Given the description of an element on the screen output the (x, y) to click on. 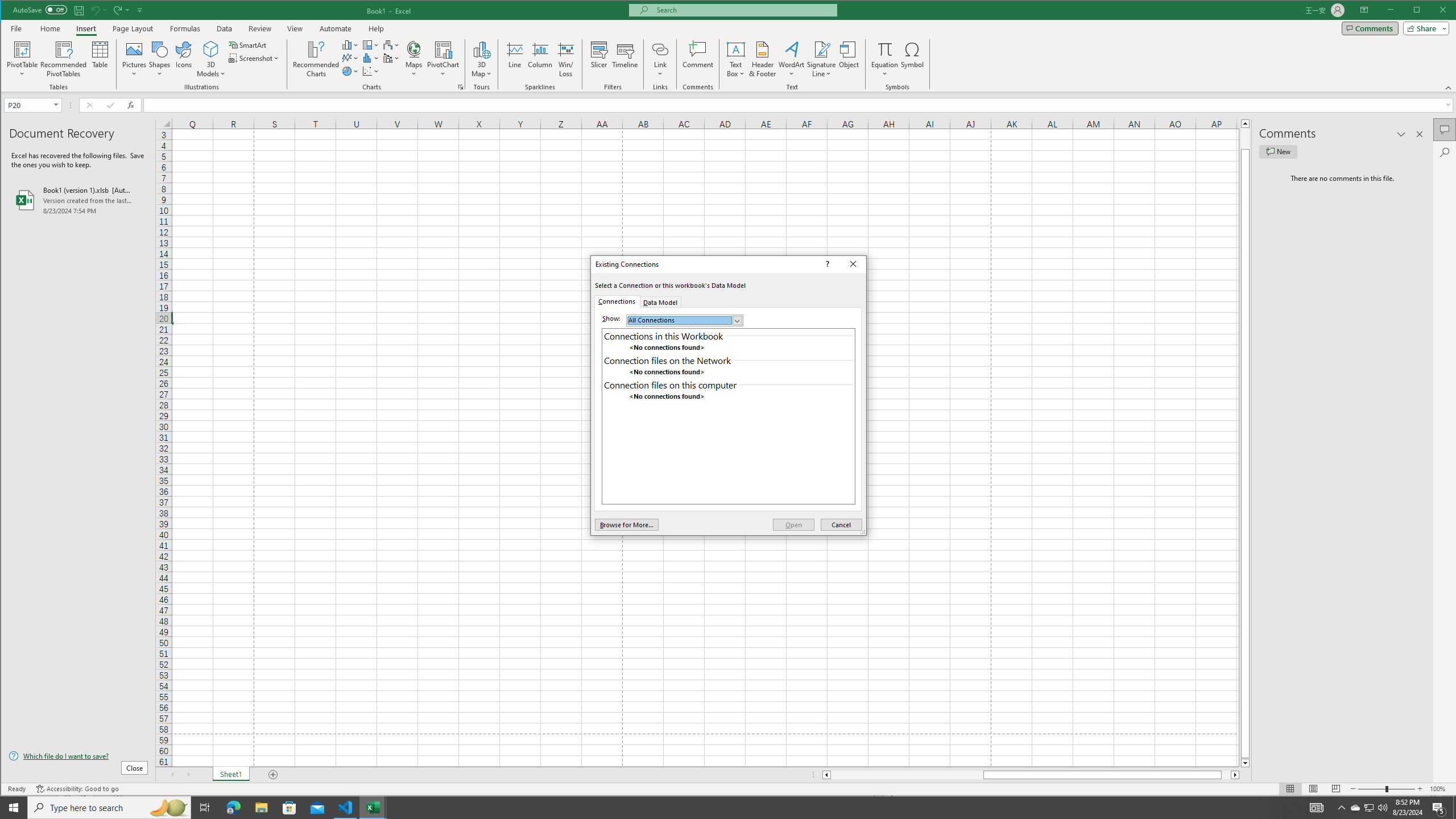
Show desktop (1454, 807)
Connection files on the Network (728, 359)
Insert Pie or Doughnut Chart (350, 70)
Icons (183, 59)
3D Models (211, 48)
Q2790: 100% (1382, 807)
Connections (616, 300)
Add Sheet (272, 774)
Symbol... (912, 59)
Recommended PivotTables (63, 59)
File Explorer (261, 807)
Open (793, 524)
Insert Hierarchy Chart (371, 44)
Insert Statistic Chart (371, 57)
Sheet1 (230, 774)
